Given the description of an element on the screen output the (x, y) to click on. 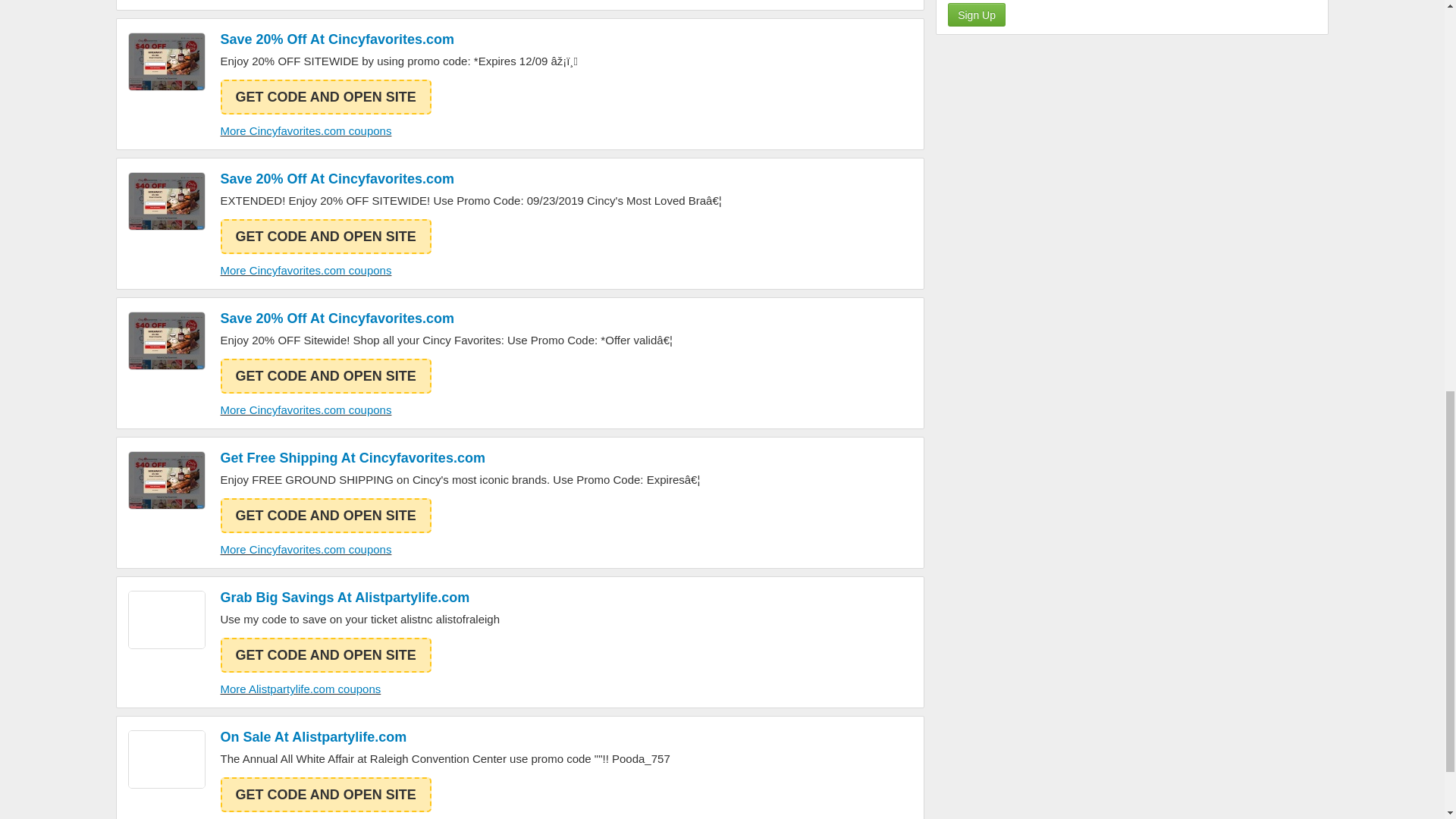
Cincyfavorites.com Coupons (166, 200)
Get Free Shipping At Cincyfavorites.com (459, 457)
Cincyfavorites.com Coupons (166, 480)
GET CODE AND OPEN SITE (324, 96)
Sign Up (976, 14)
Alistpartylife.com Coupons (166, 619)
On Sale At Alistpartylife.com (444, 737)
GET CODE AND OPEN SITE (324, 236)
GET CODE AND OPEN SITE (324, 515)
Grab Big Savings At Alistpartylife.com (359, 597)
